Given the description of an element on the screen output the (x, y) to click on. 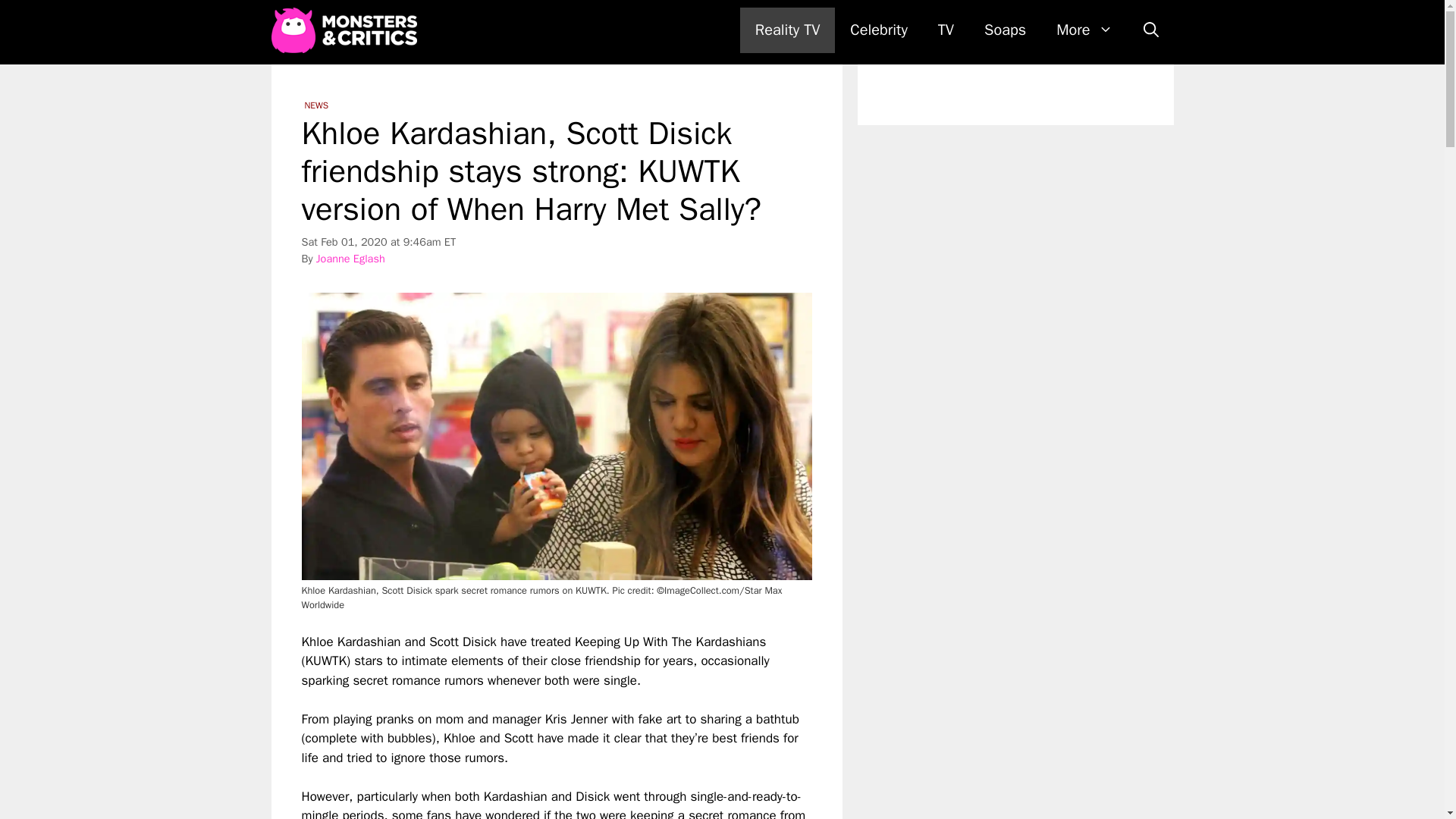
View all posts by Joanne Eglash (350, 258)
Reality TV (787, 30)
Monsters and Critics (343, 30)
Monsters and Critics (347, 30)
More (1083, 30)
TV (946, 30)
Joanne Eglash (350, 258)
Celebrity (877, 30)
Soaps (1005, 30)
